Given the description of an element on the screen output the (x, y) to click on. 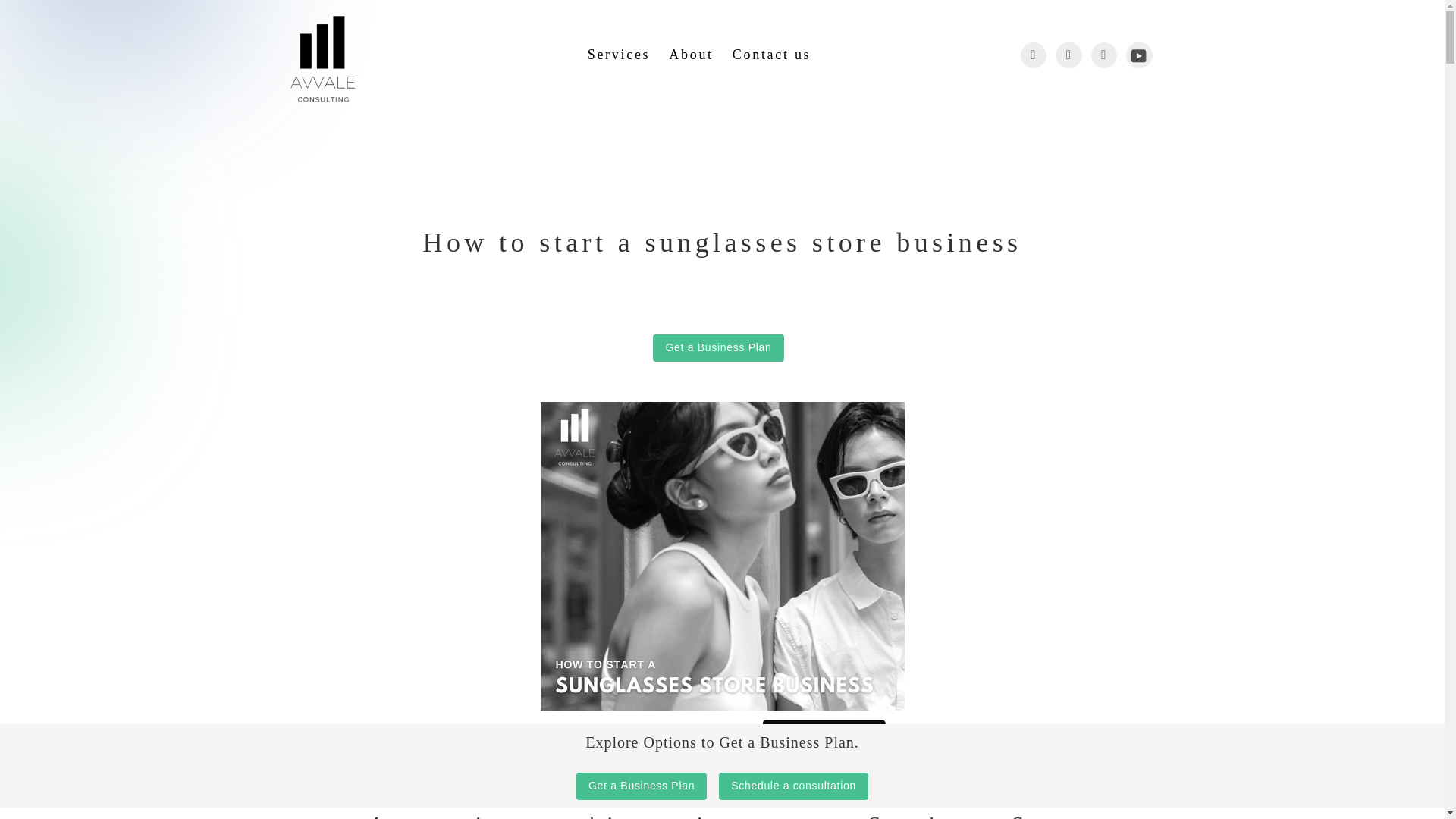
AVVALE on Instagram (1068, 55)
AVVALE on LinkedIn (1103, 55)
AVVALE on YouTube (1139, 55)
AVVALE on Facebook (1033, 55)
Services (623, 55)
